Given the description of an element on the screen output the (x, y) to click on. 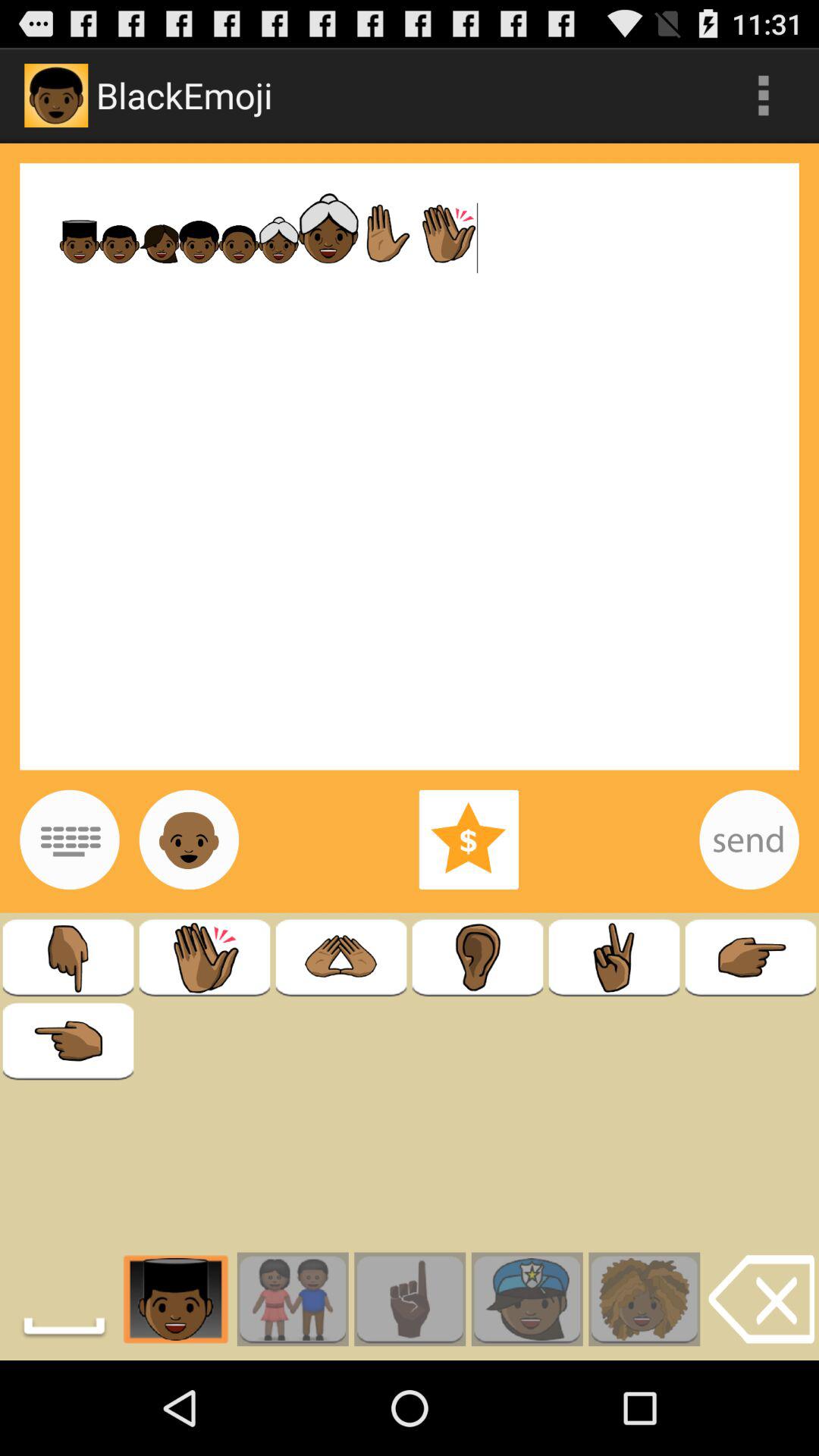
show keyboard (69, 839)
